Given the description of an element on the screen output the (x, y) to click on. 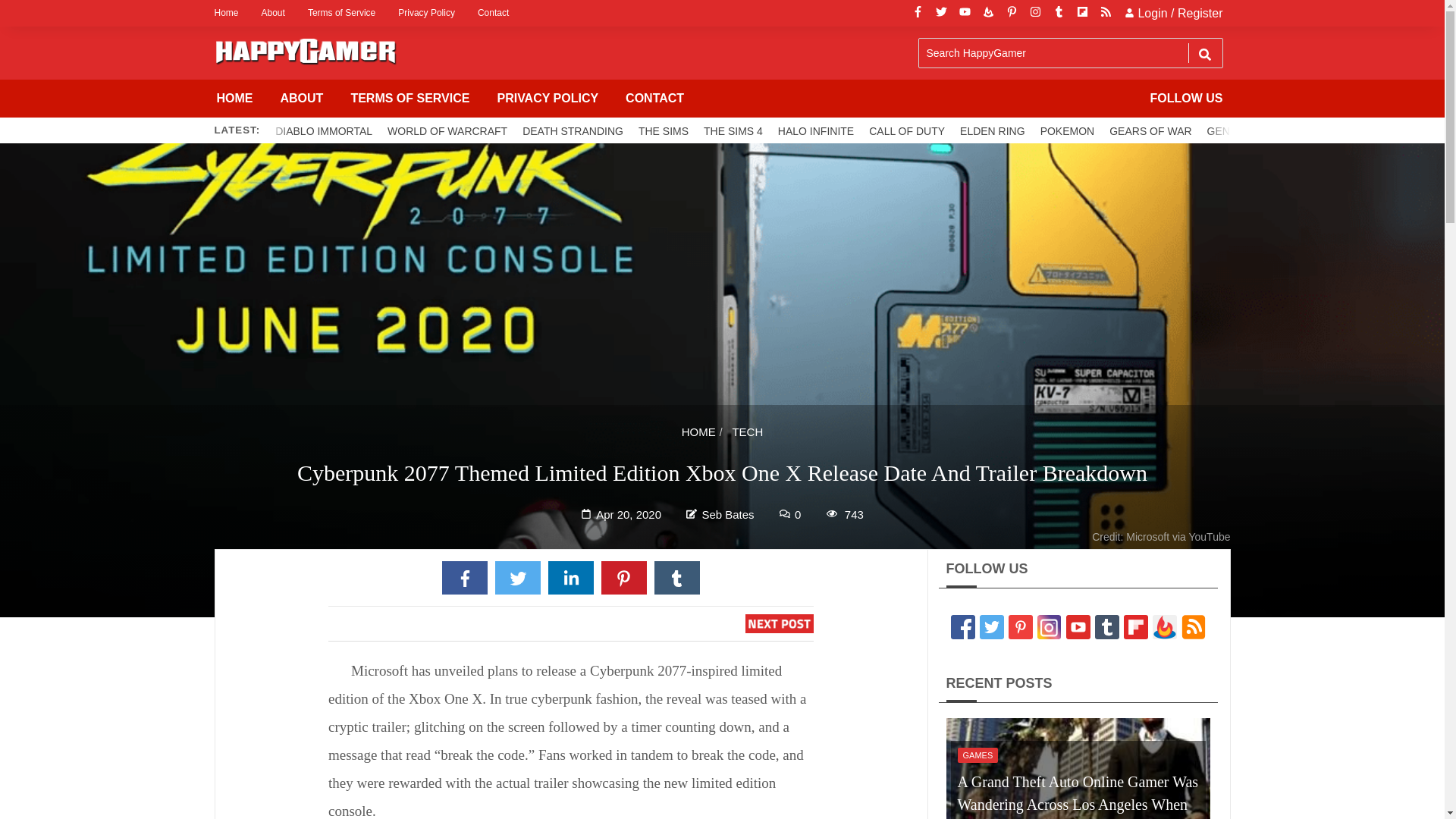
Home (231, 13)
Terms of Service (342, 13)
Privacy Policy (426, 13)
Privacy Policy (426, 13)
WORLD OF WARCRAFT (447, 130)
DIABLO IMMORTAL (323, 130)
FOLLOW US (1186, 98)
About (273, 13)
THE SIMS (662, 130)
Home (231, 13)
HALO INFINITE (815, 130)
Terms of Service (342, 13)
PRIVACY POLICY (547, 98)
Contact (492, 13)
DEATH STRANDING (572, 130)
